Given the description of an element on the screen output the (x, y) to click on. 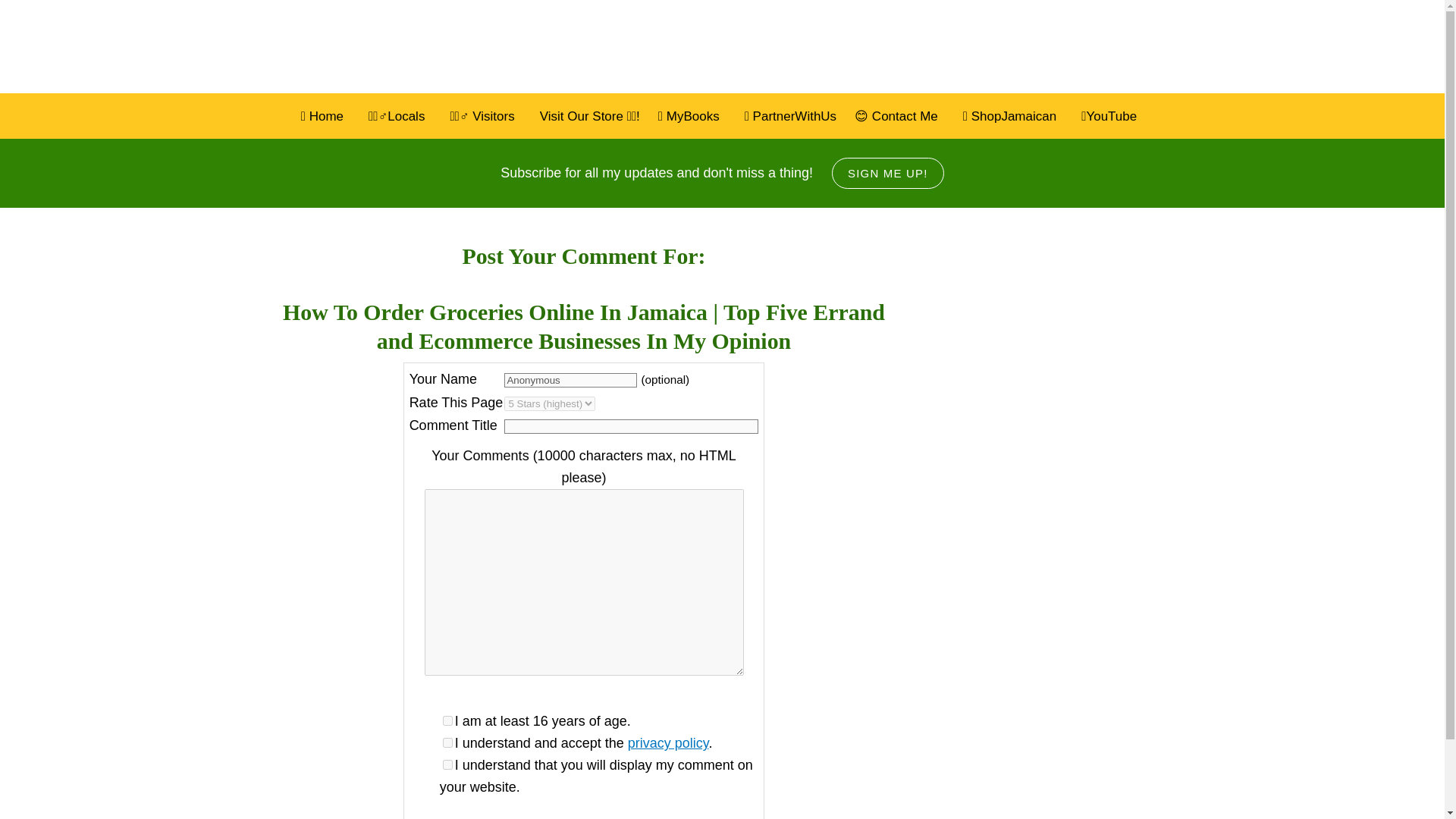
1 (447, 764)
MY WEBSITE (423, 46)
1 (447, 742)
1 (447, 720)
Anonymous (570, 380)
